Given the description of an element on the screen output the (x, y) to click on. 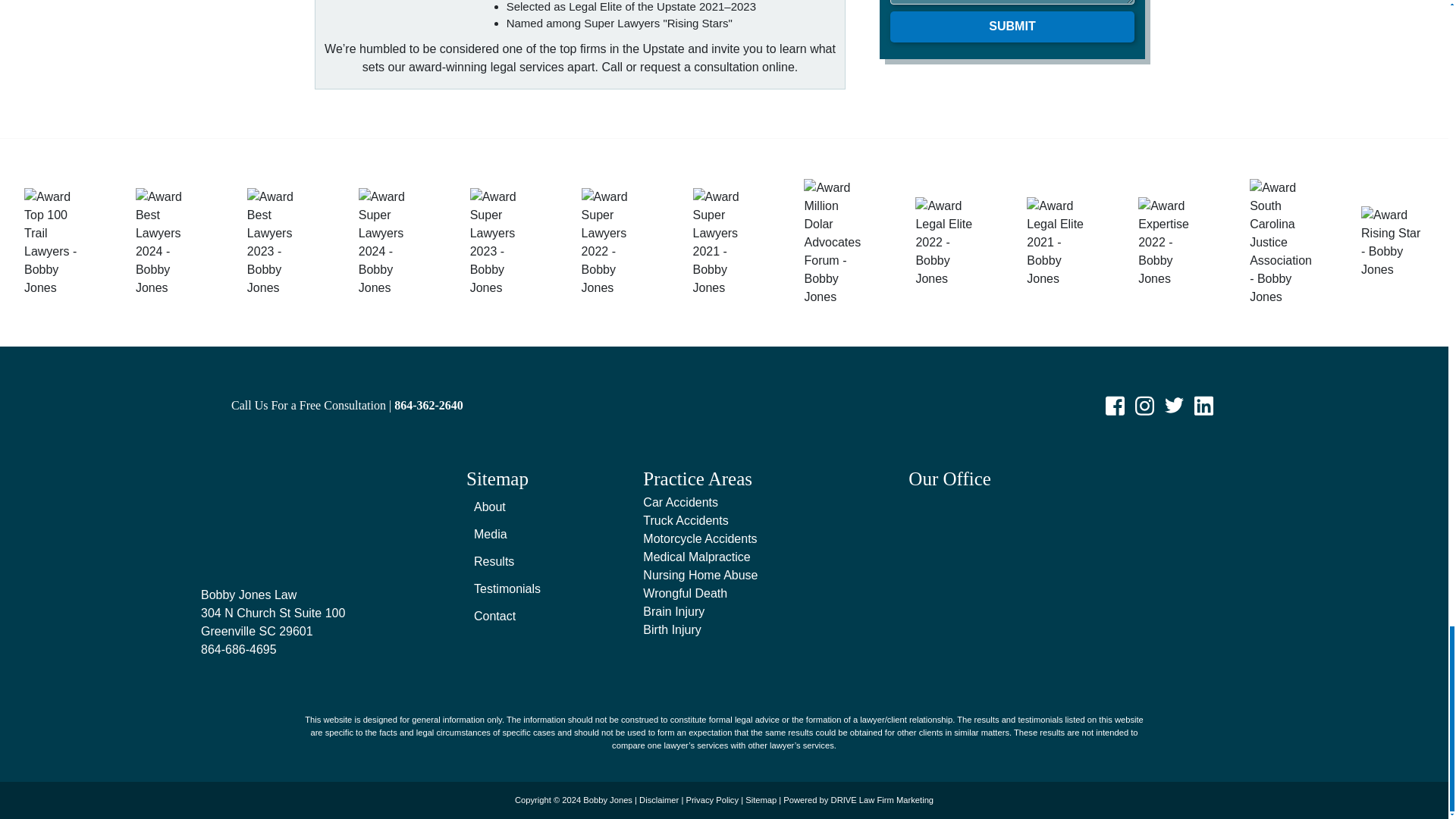
LinkedIn (1204, 403)
Twitter (1174, 403)
Facebook (1115, 403)
Google Map (1077, 584)
Instagram (1144, 403)
